Given the description of an element on the screen output the (x, y) to click on. 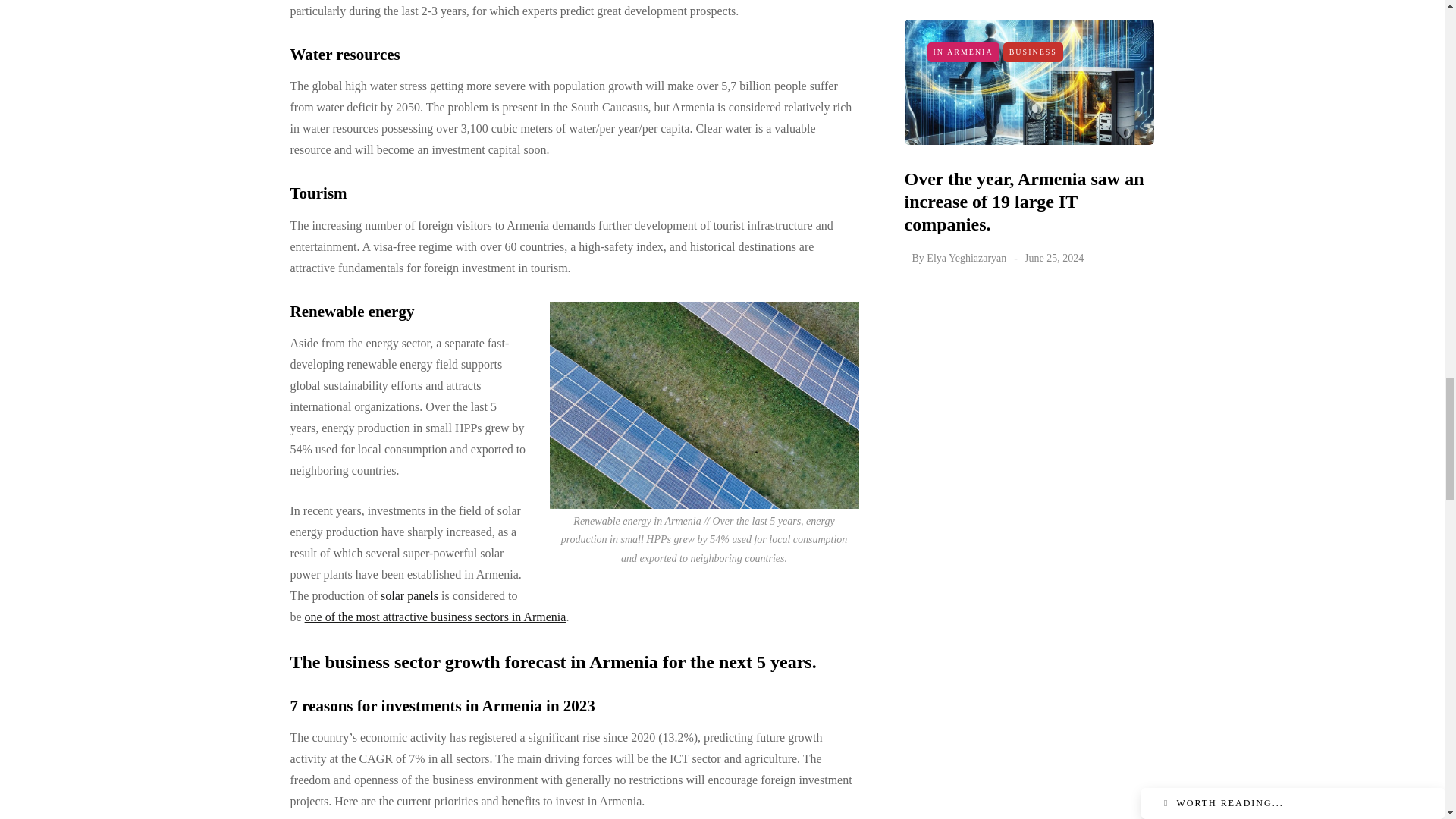
Solar panels (409, 594)
